Given the description of an element on the screen output the (x, y) to click on. 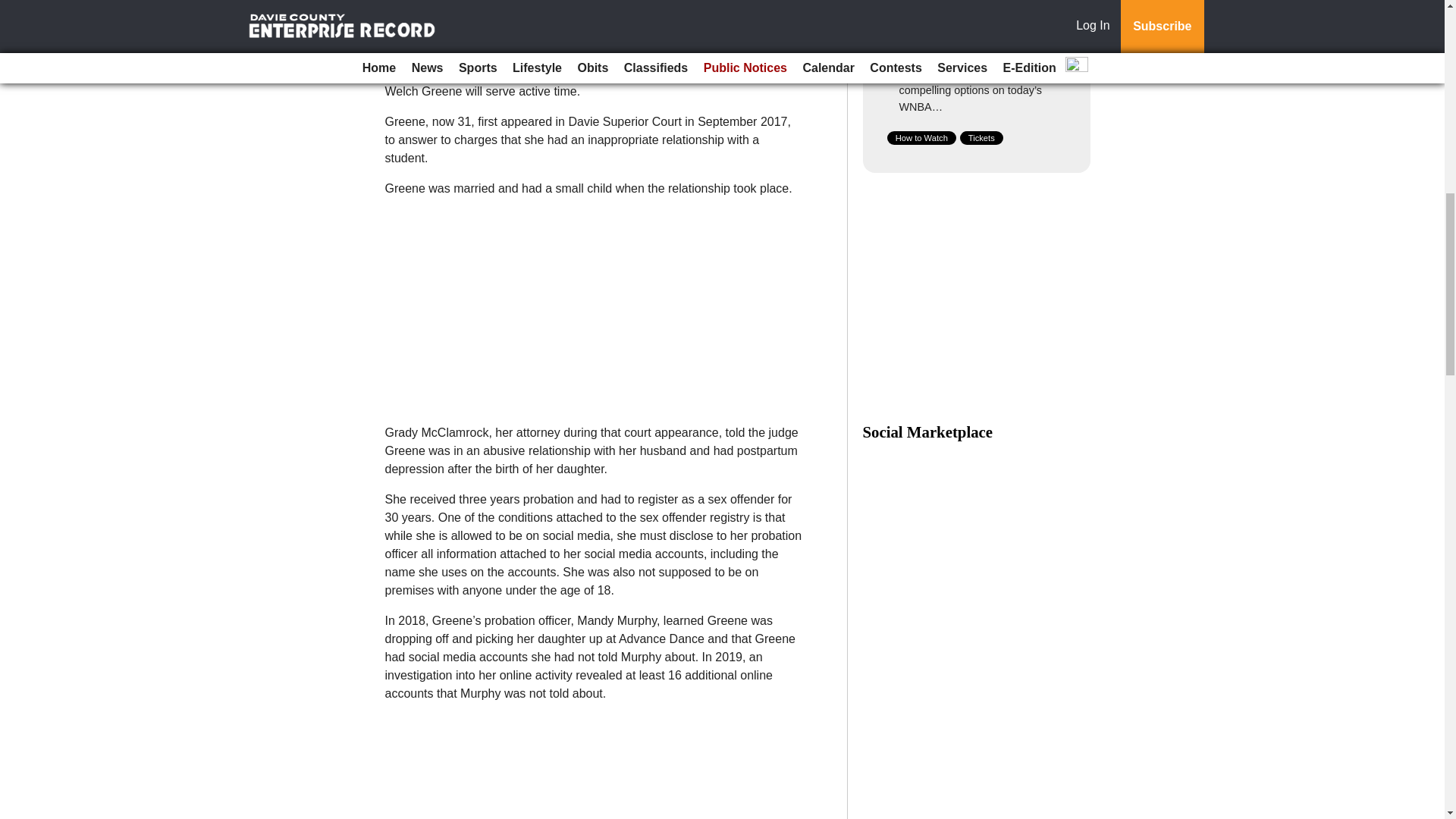
Tickets (981, 137)
How to Watch (921, 137)
Trinity Audio Player (592, 6)
